Given the description of an element on the screen output the (x, y) to click on. 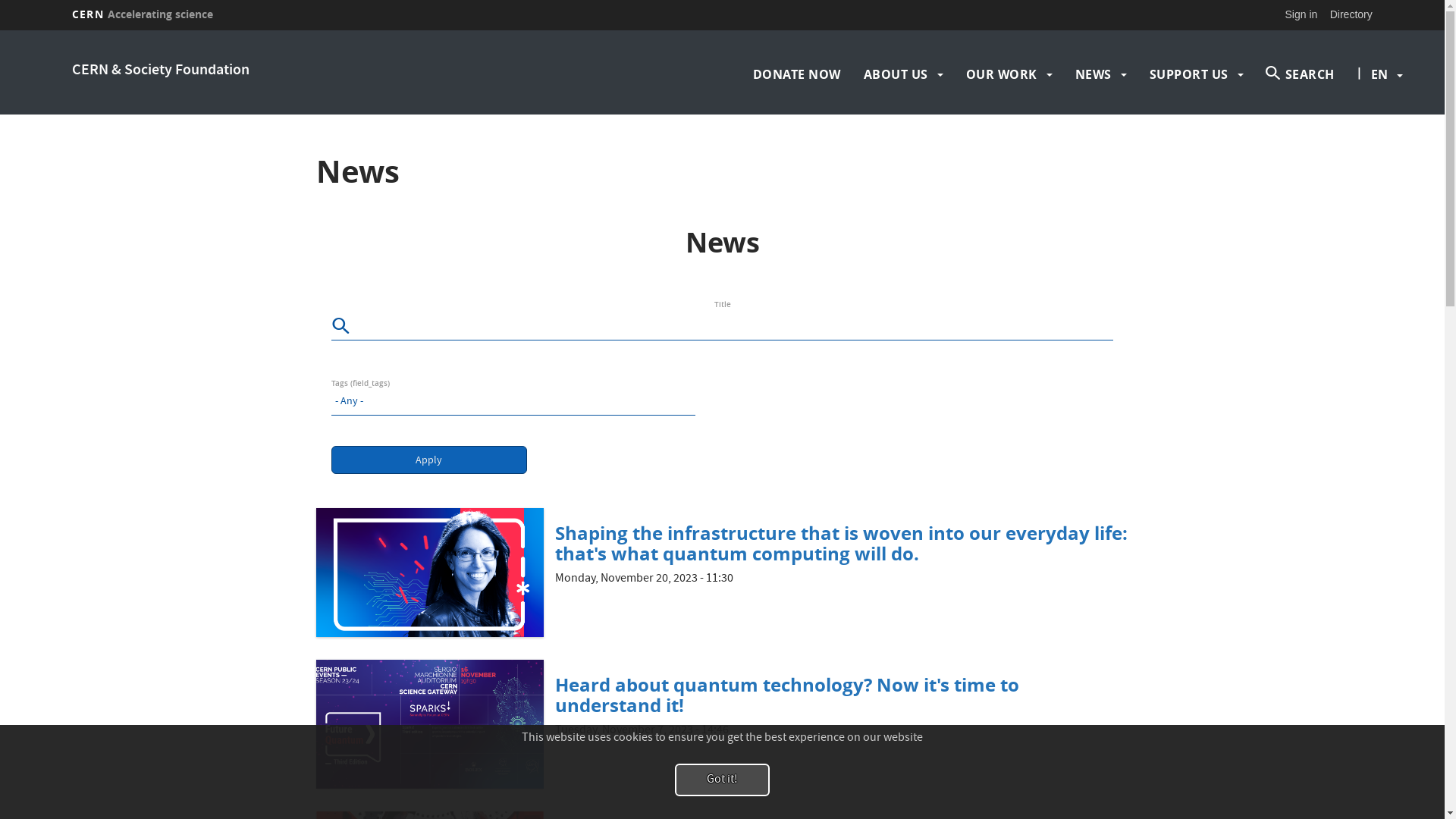
Sign in Element type: text (1301, 14)
DONATE NOW Element type: text (796, 74)
Directory Element type: text (1351, 14)
SEARCH Element type: text (1300, 74)
Apply Element type: text (429, 459)
Got it! Element type: text (721, 779)
|
EN Element type: text (1379, 73)
SUPPORT US Element type: text (1188, 74)
NEWS Element type: text (1093, 74)
Skip to main content Element type: text (0, 30)
CERN Accelerating science Element type: text (142, 14)
CERN & Society Foundation Element type: text (160, 70)
